Given the description of an element on the screen output the (x, y) to click on. 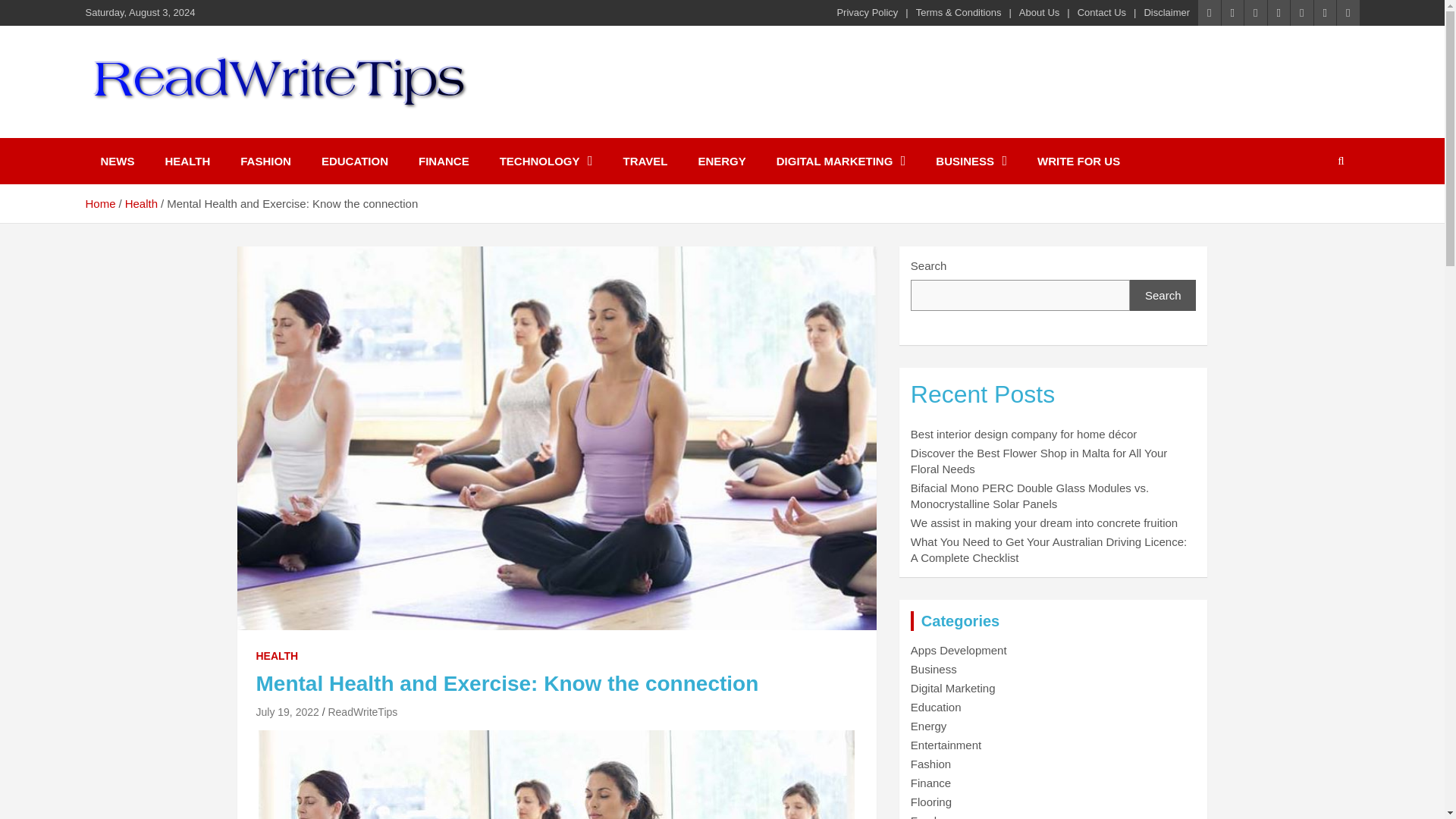
BUSINESS (971, 161)
Mental Health and Exercise: Know the connection (287, 711)
Disclaimer (1165, 12)
Home (99, 203)
FINANCE (443, 161)
TRAVEL (644, 161)
NEWS (116, 161)
EDUCATION (354, 161)
HEALTH (277, 656)
WRITE FOR US (1078, 161)
Health (141, 203)
TECHNOLOGY (546, 161)
DIGITAL MARKETING (841, 161)
FASHION (265, 161)
ENERGY (721, 161)
